Given the description of an element on the screen output the (x, y) to click on. 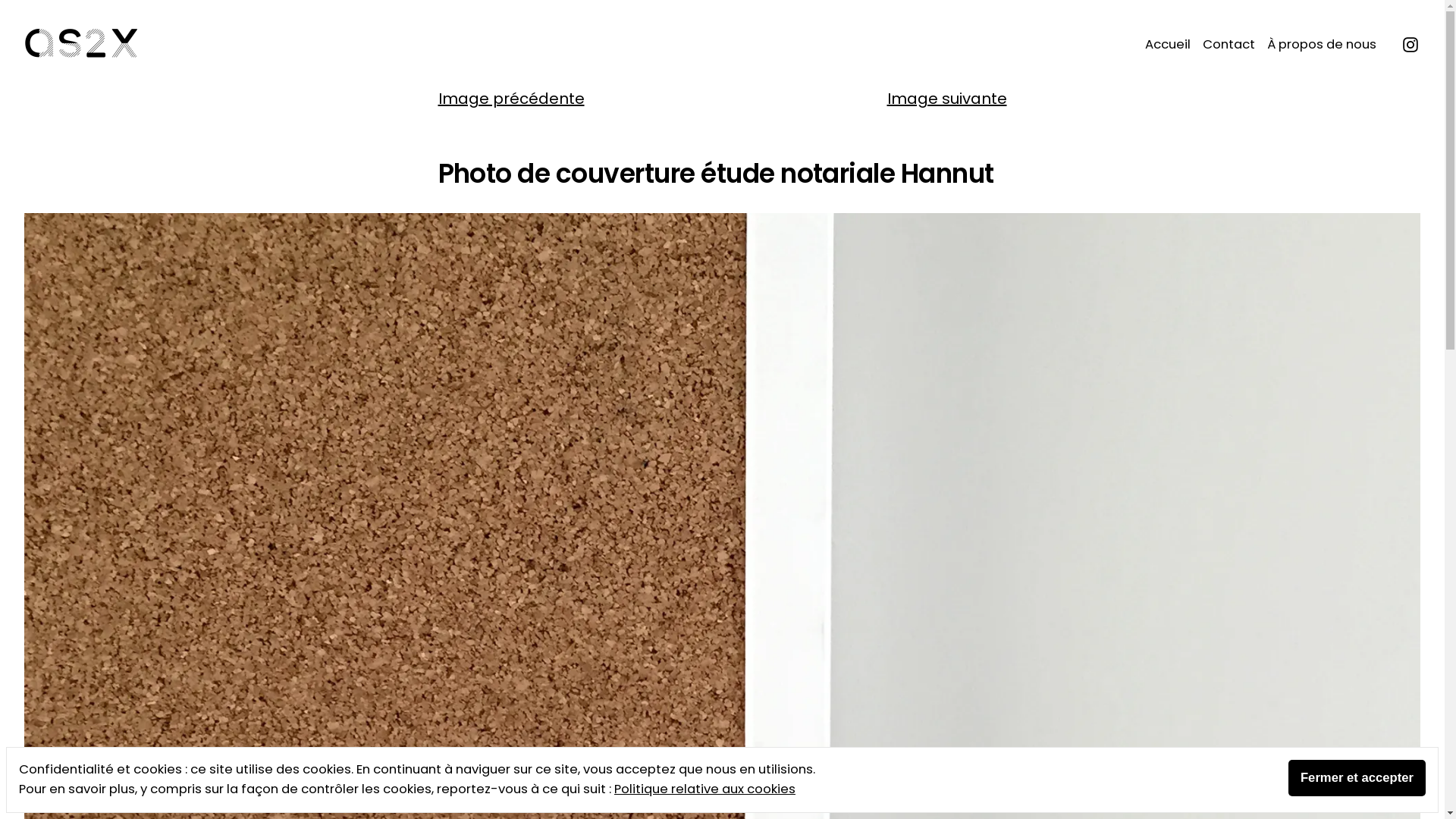
Image suivante Element type: text (947, 98)
Contact Element type: text (1228, 45)
Fermer et accepter Element type: text (1356, 778)
Politique relative aux cookies Element type: text (704, 788)
Accueil Element type: text (1170, 45)
Instagram Element type: text (1410, 43)
